Given the description of an element on the screen output the (x, y) to click on. 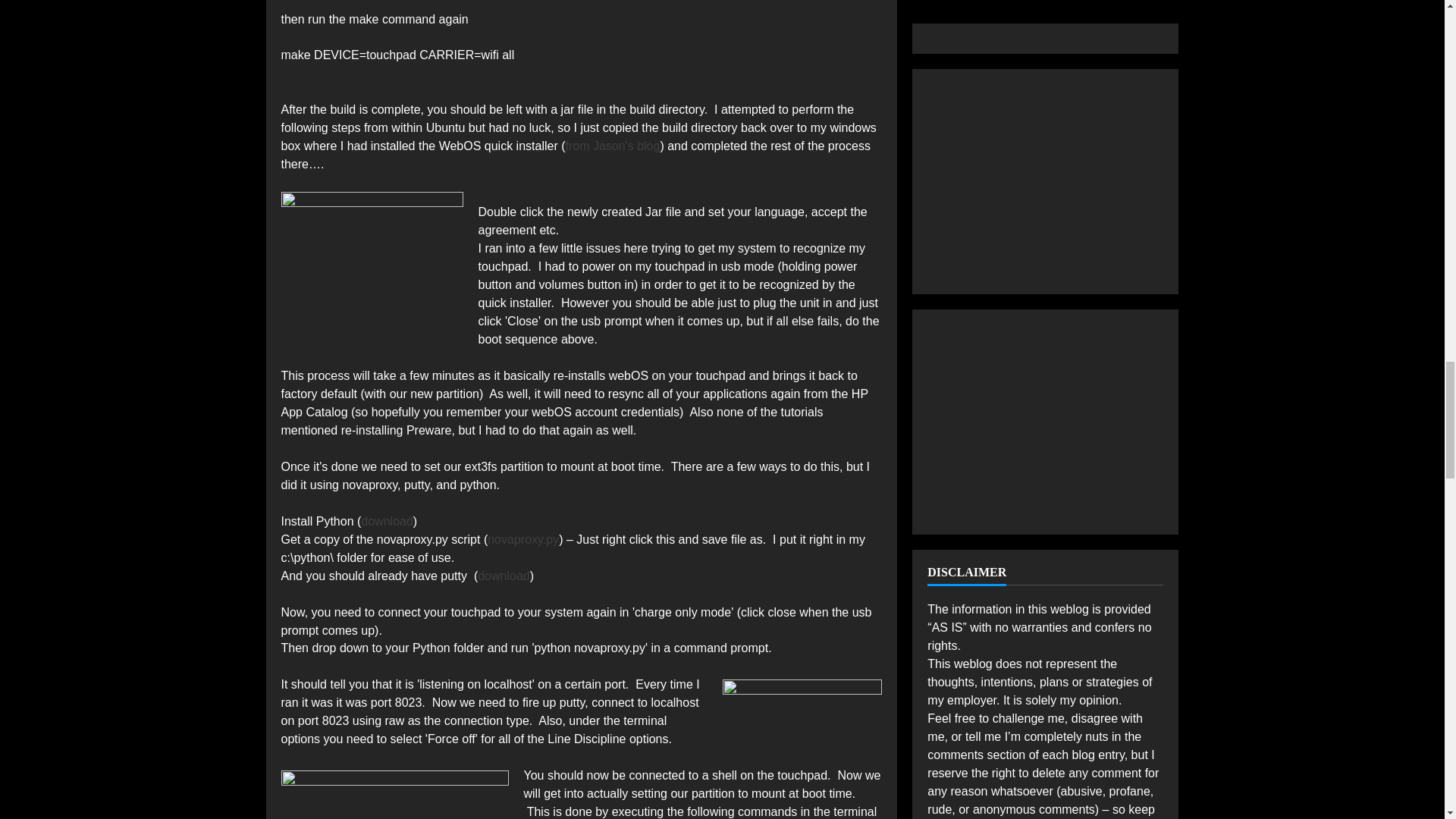
webOSDoctor (372, 260)
download (387, 521)
novaproxy.py (523, 539)
from Jason's blog (613, 145)
python (802, 700)
puttysessions (394, 780)
download (503, 575)
